Given the description of an element on the screen output the (x, y) to click on. 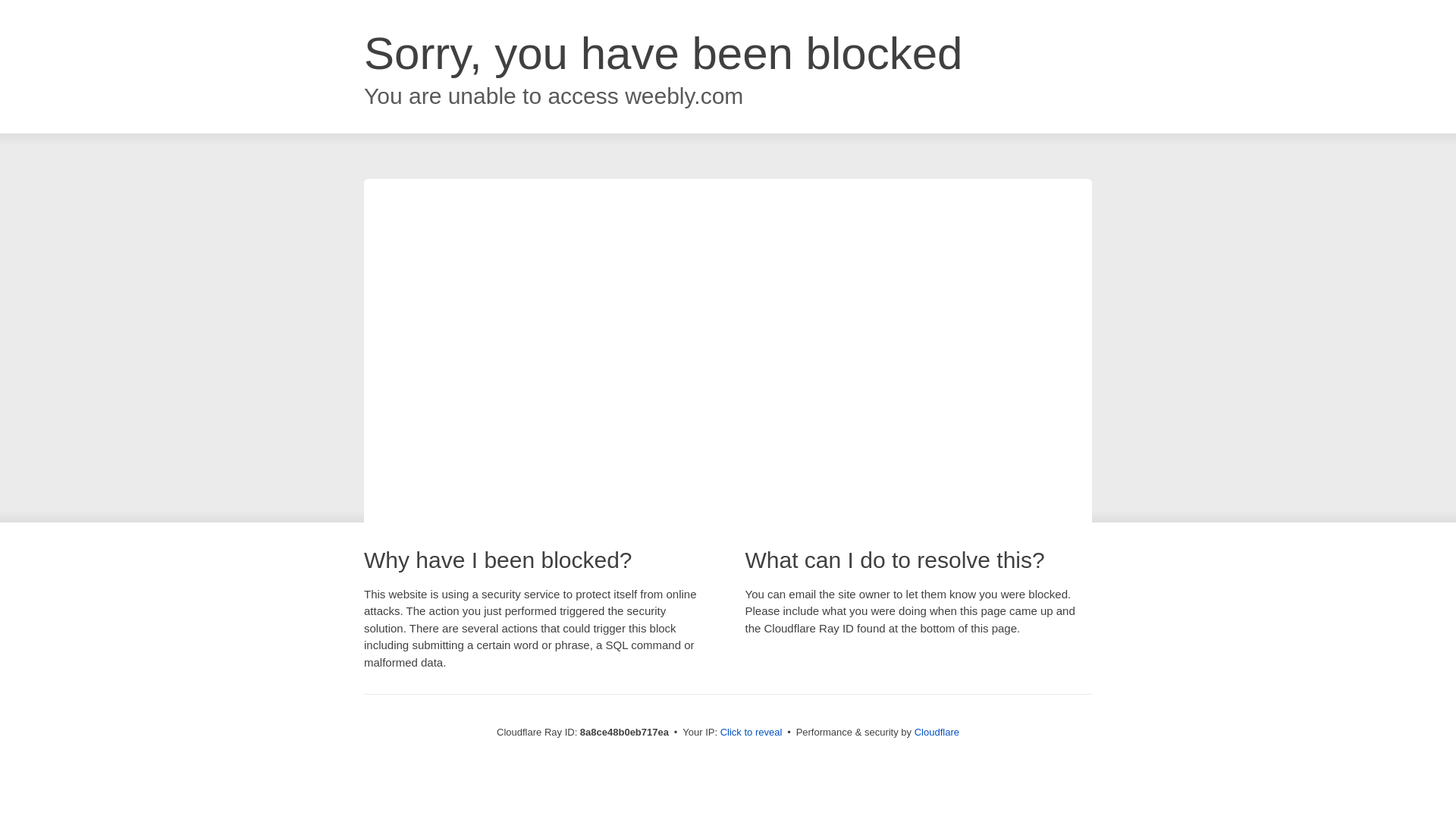
Cloudflare (936, 731)
Click to reveal (751, 732)
